Given the description of an element on the screen output the (x, y) to click on. 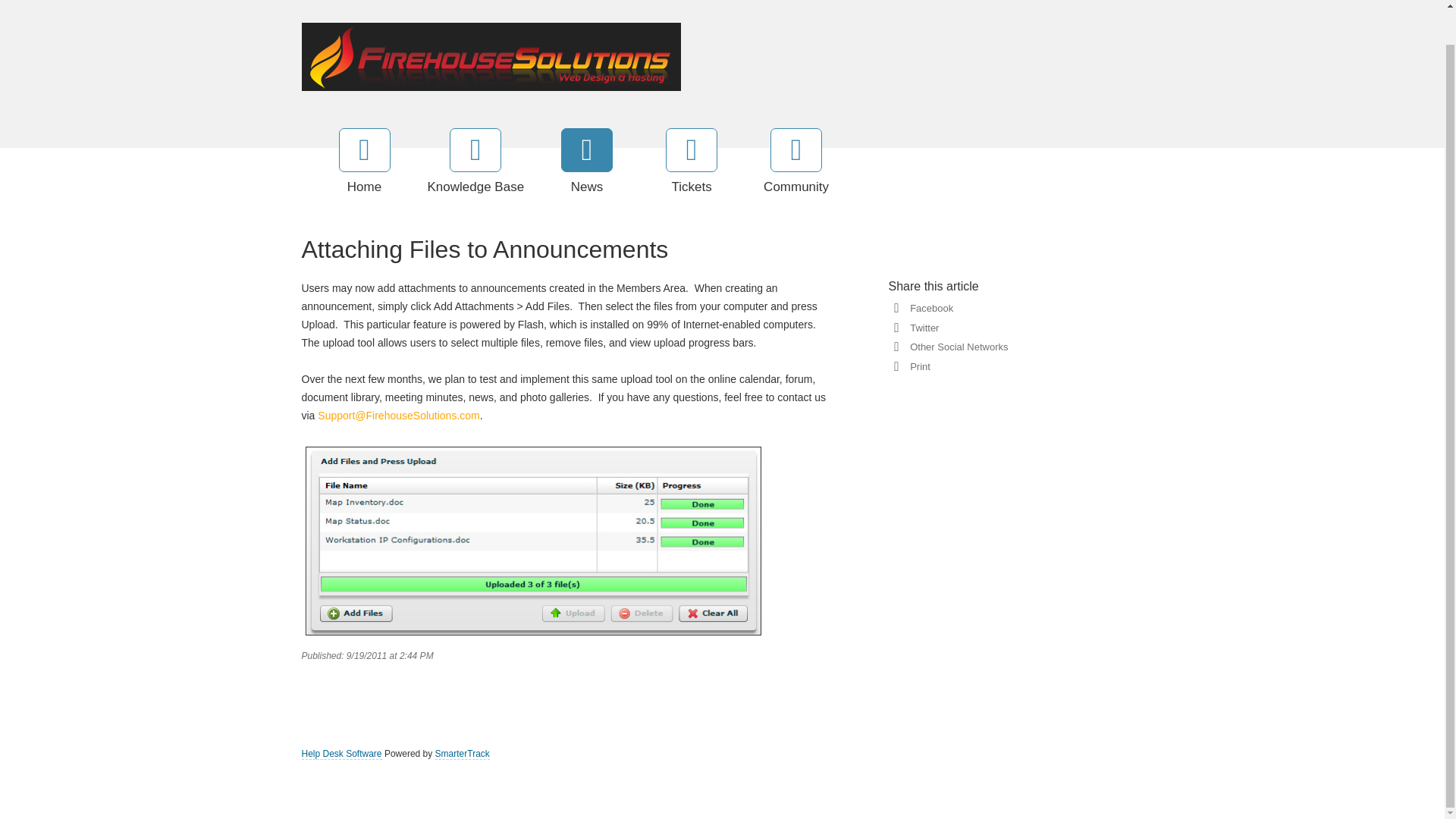
News (586, 162)
Twitter (921, 327)
Community (796, 162)
Tickets (691, 162)
Firehouse Solutions (491, 55)
Other Social Networks (955, 346)
Knowledge Base (476, 162)
Home (364, 162)
Facebook (928, 307)
